Given the description of an element on the screen output the (x, y) to click on. 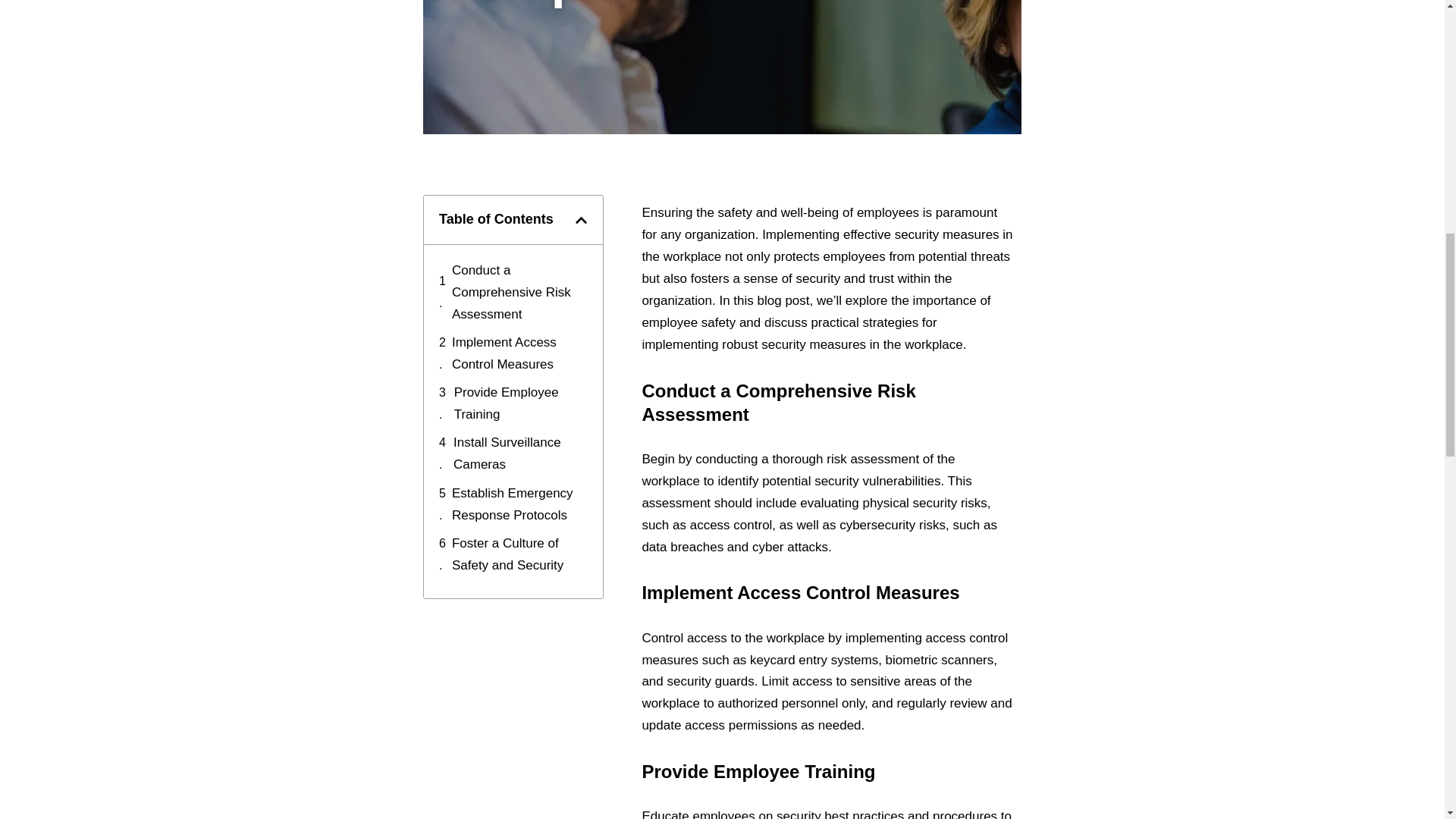
Conduct a Comprehensive Risk Assessment (519, 292)
Implement Access Control Measures (519, 353)
Establish Emergency Response Protocols (519, 505)
Foster a Culture of Safety and Security (519, 555)
Install Surveillance Cameras (520, 453)
Provide Employee Training (521, 403)
